Given the description of an element on the screen output the (x, y) to click on. 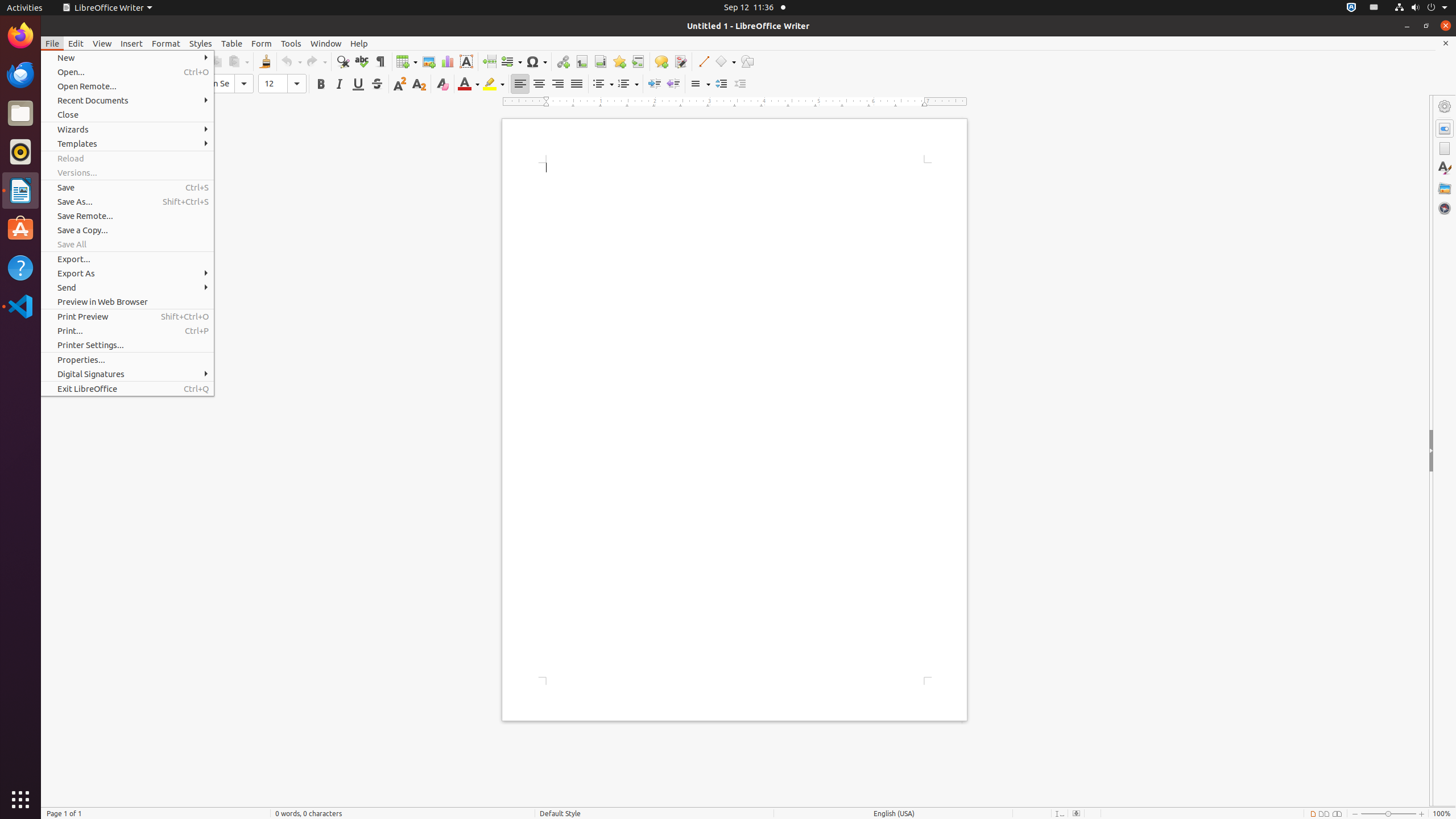
Printer Settings... Element type: menu-item (126, 344)
Insert Element type: menu (131, 43)
Exit LibreOffice Element type: menu-item (126, 388)
Table Element type: push-button (406, 61)
Highlight Color Element type: push-button (493, 83)
